Given the description of an element on the screen output the (x, y) to click on. 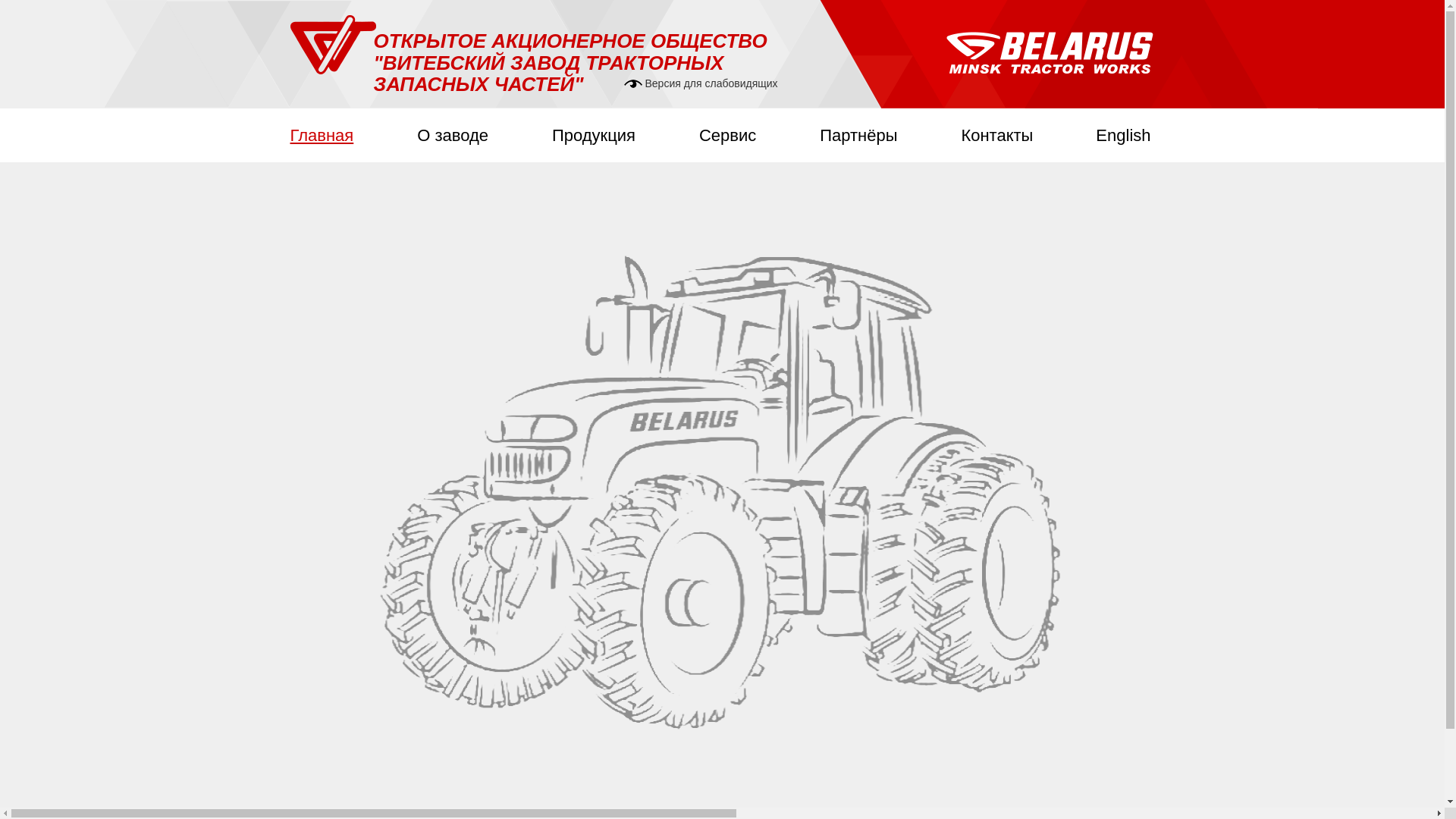
English Element type: text (1122, 134)
